Given the description of an element on the screen output the (x, y) to click on. 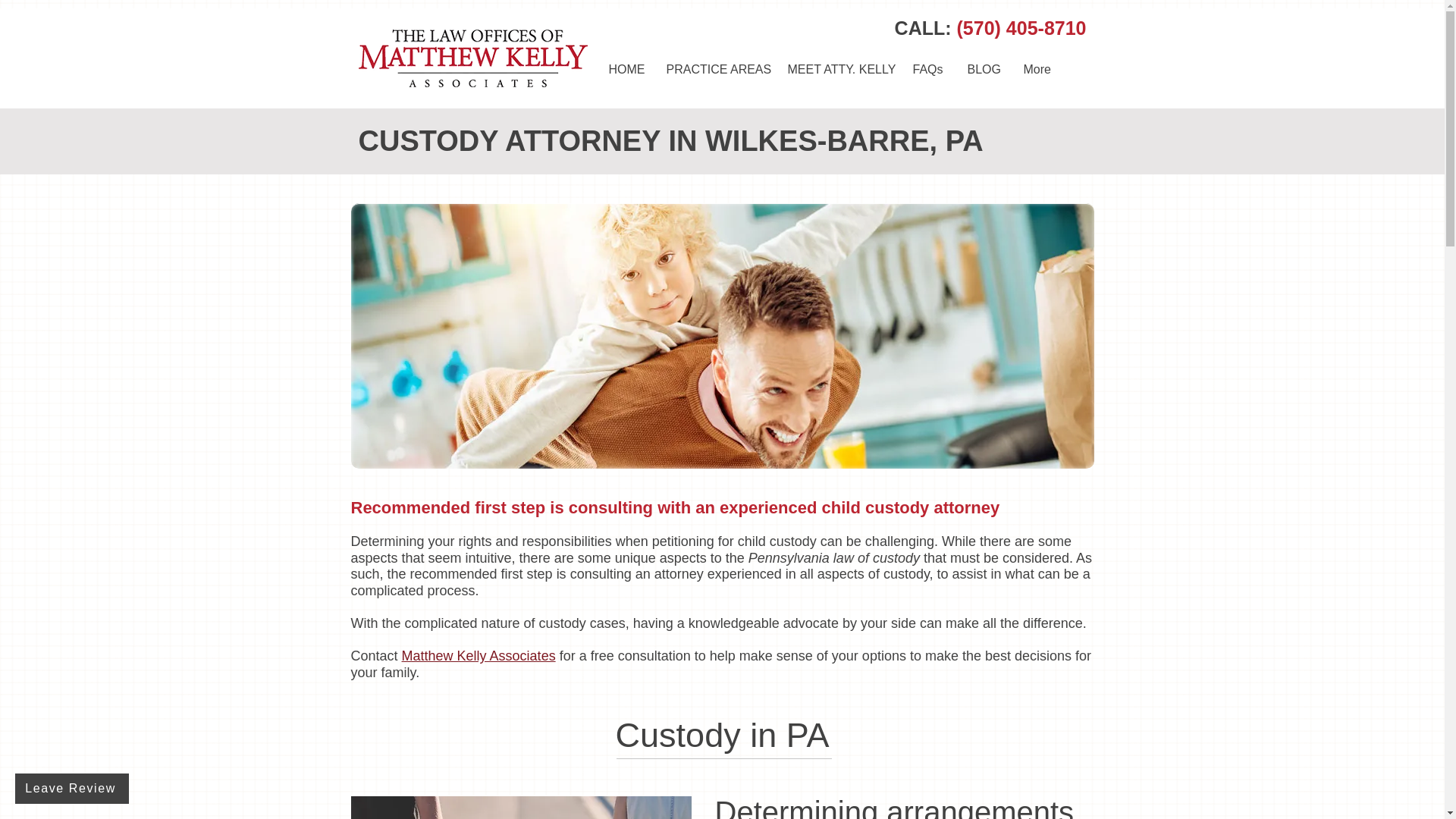
MEET ATTY. KELLY (838, 69)
BLOG (983, 69)
Matthew Kelly Associates (478, 655)
FAQs (928, 69)
Leave Review (71, 788)
Determinig Arrangements for Child Custody (520, 807)
HOME (625, 69)
